Given the description of an element on the screen output the (x, y) to click on. 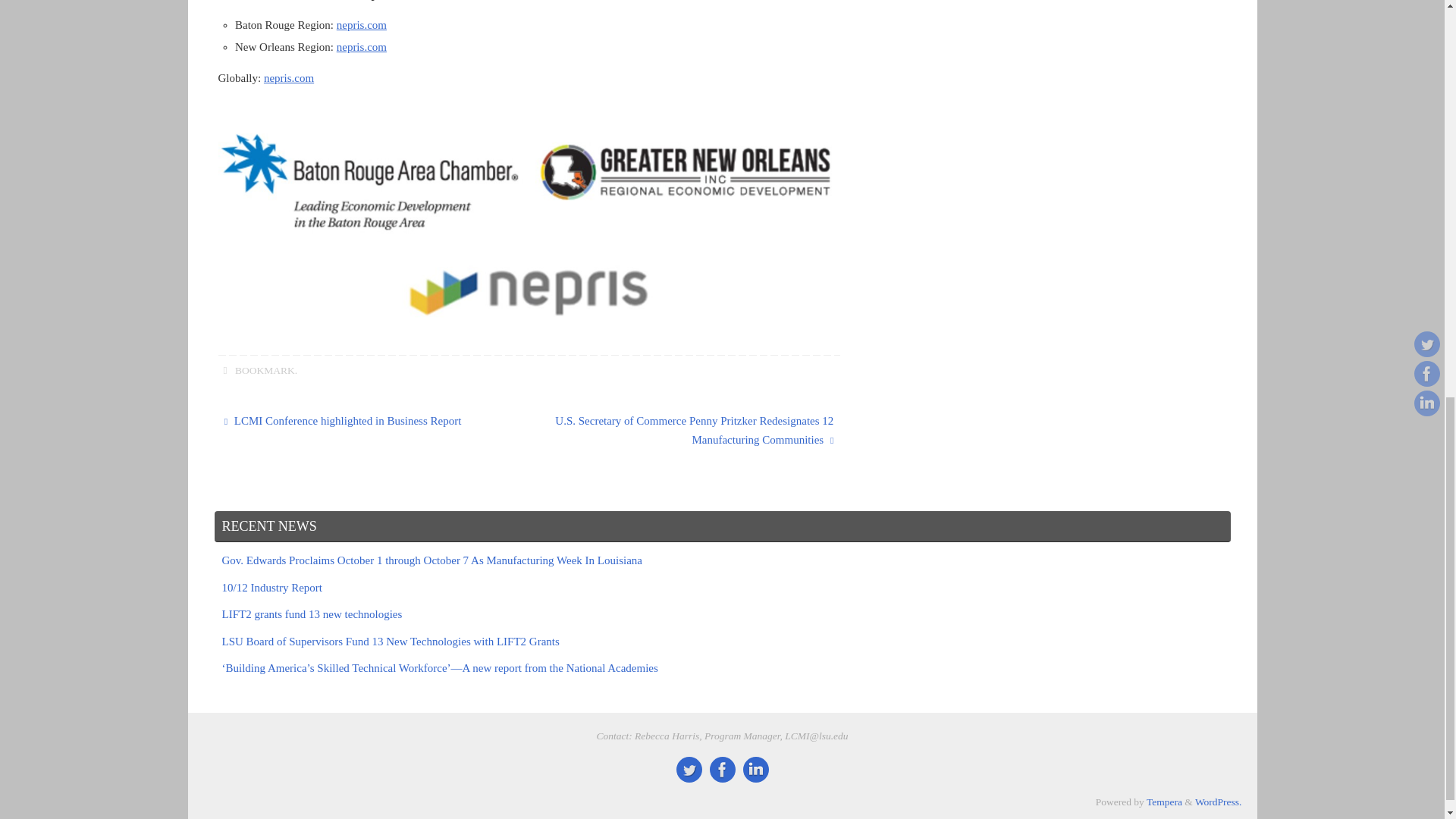
Facebook (722, 769)
Twitter (689, 769)
Permalink to National Manufacturing Week (264, 369)
nepris.com (361, 24)
 Bookmark the permalink (225, 369)
